Given the description of an element on the screen output the (x, y) to click on. 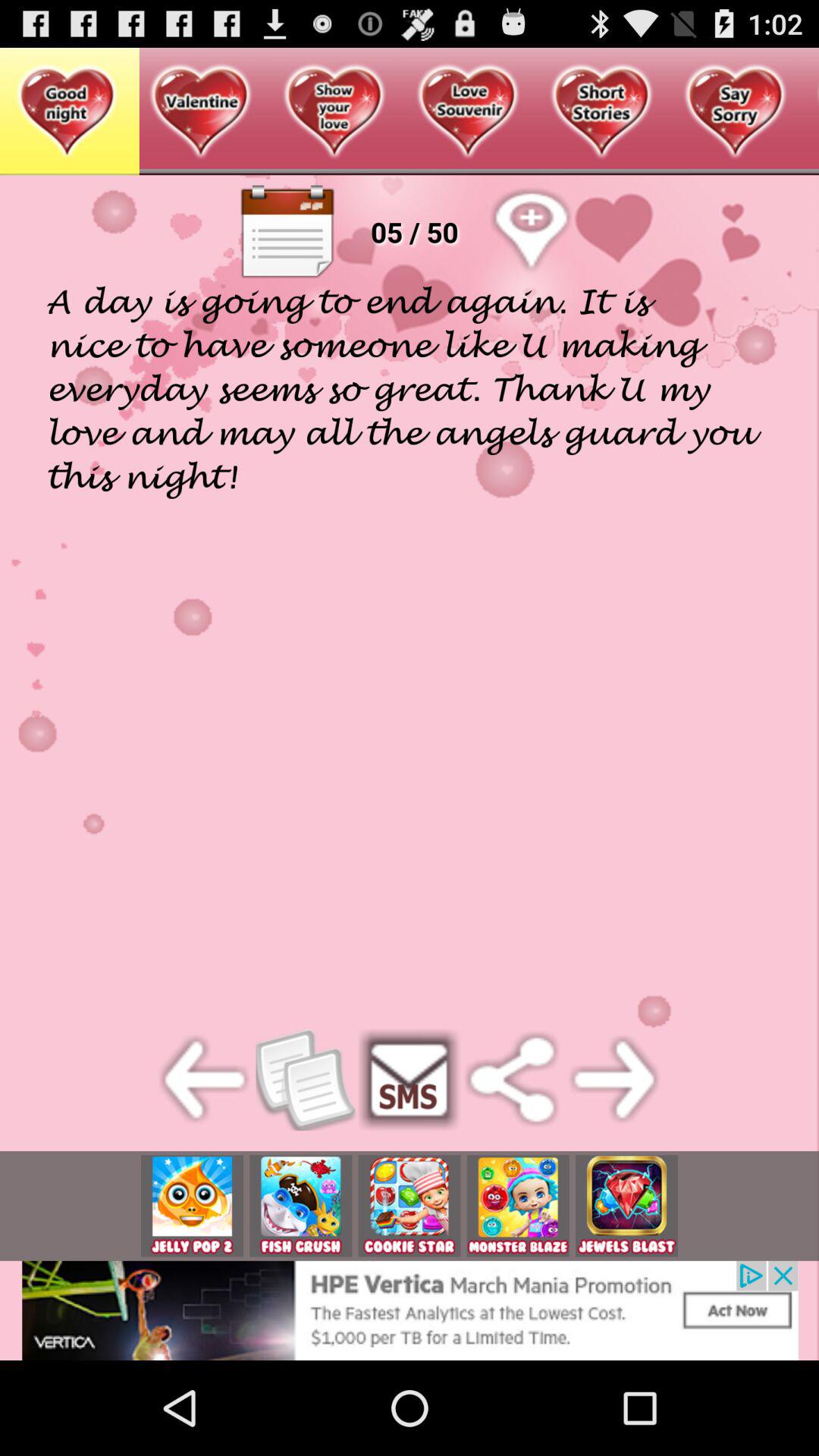
click on the button which is on right side of short stories (735, 112)
click on share button (512, 1080)
click on text book button on web page (287, 232)
button between the jelly pop2 and cookie star (300, 1205)
click on the button which is on left side of sms button (307, 1080)
click on the button which is on right side of share button (614, 1080)
